Given the description of an element on the screen output the (x, y) to click on. 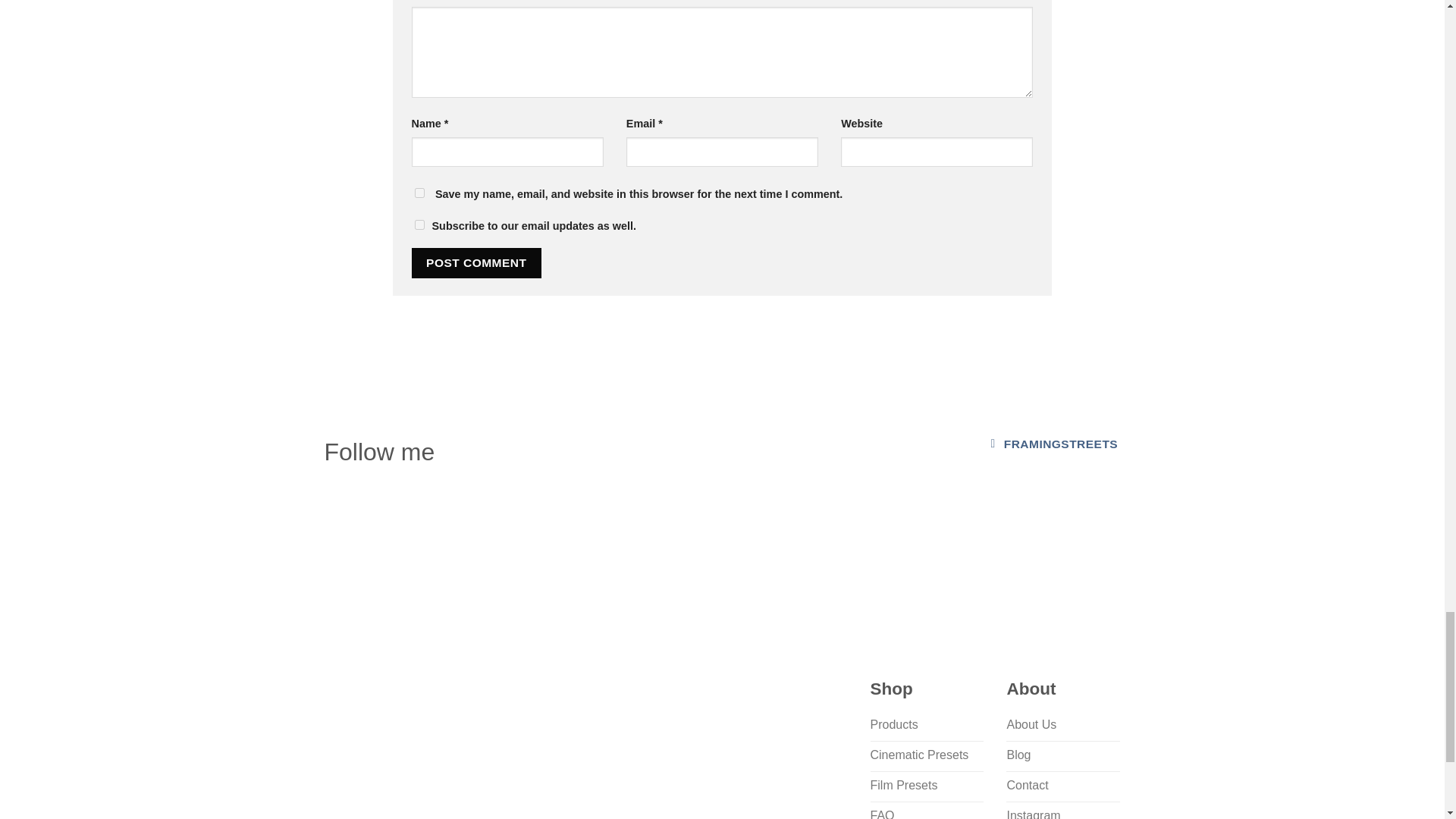
yes (418, 193)
yes (418, 225)
Post Comment (475, 262)
